Given the description of an element on the screen output the (x, y) to click on. 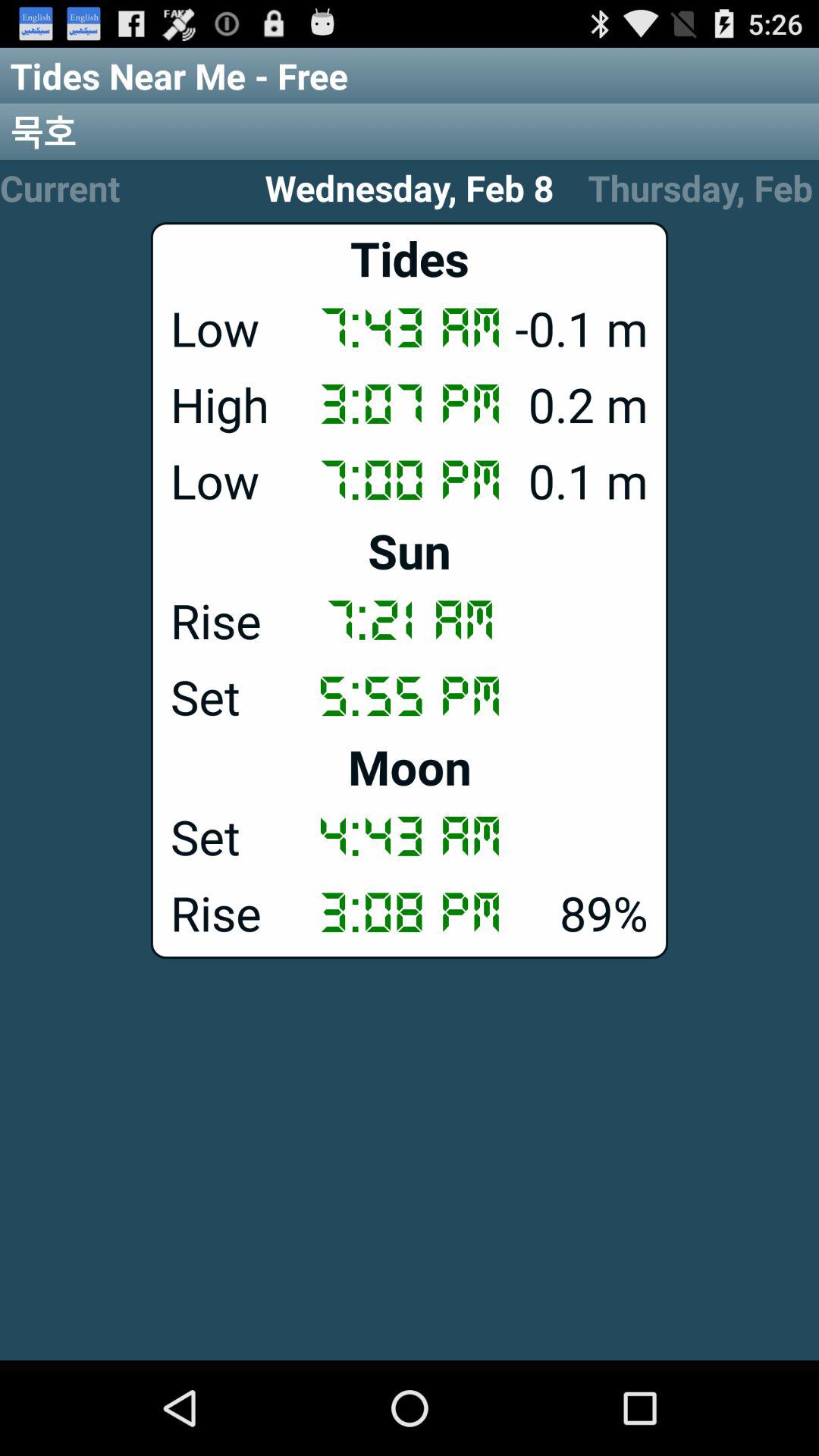
choose icon above the rise app (409, 550)
